Given the description of an element on the screen output the (x, y) to click on. 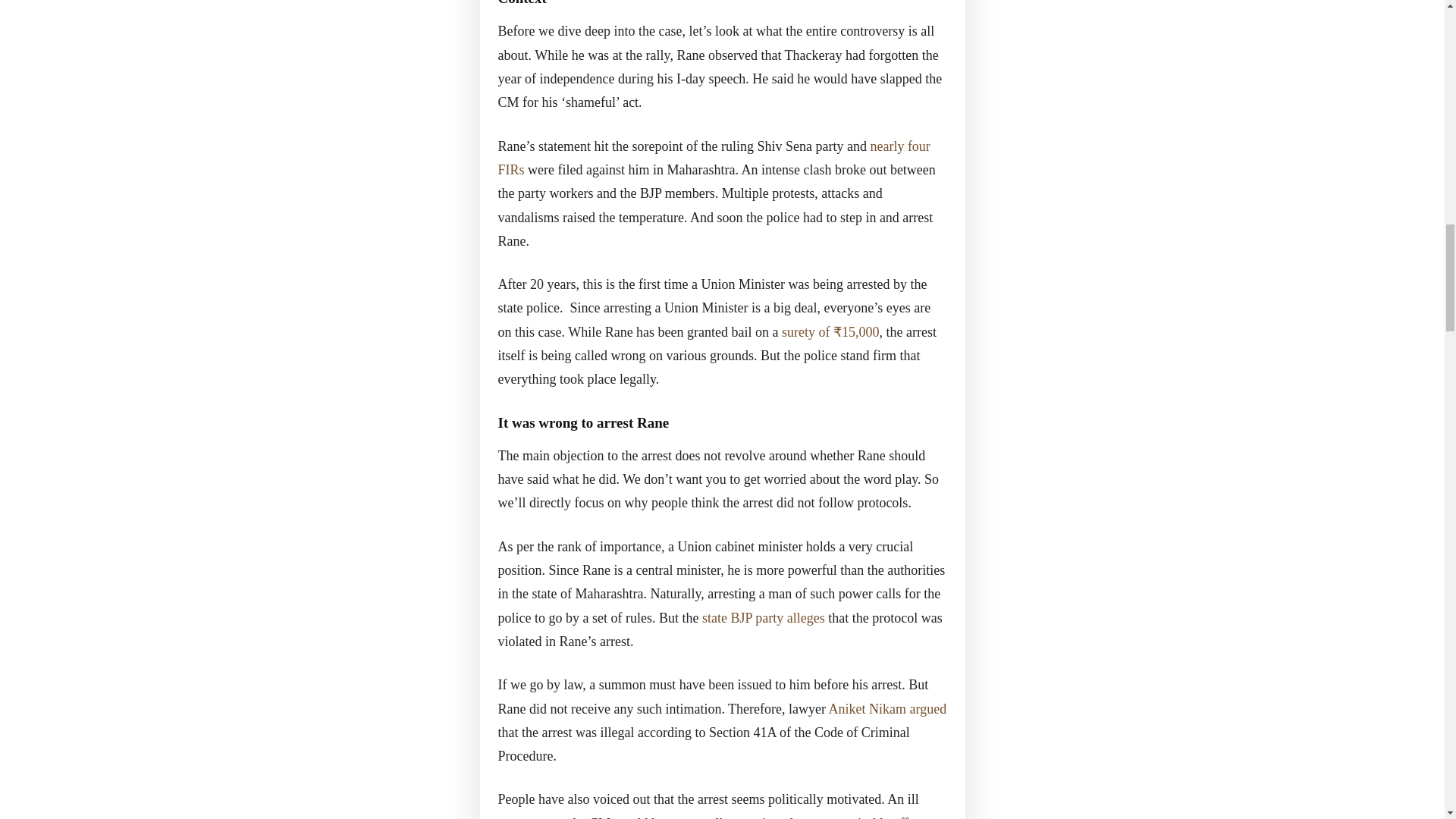
nearly four FIRs (713, 157)
Aniket Nikam argued (887, 708)
state BJP party alleges (761, 617)
